Given the description of an element on the screen output the (x, y) to click on. 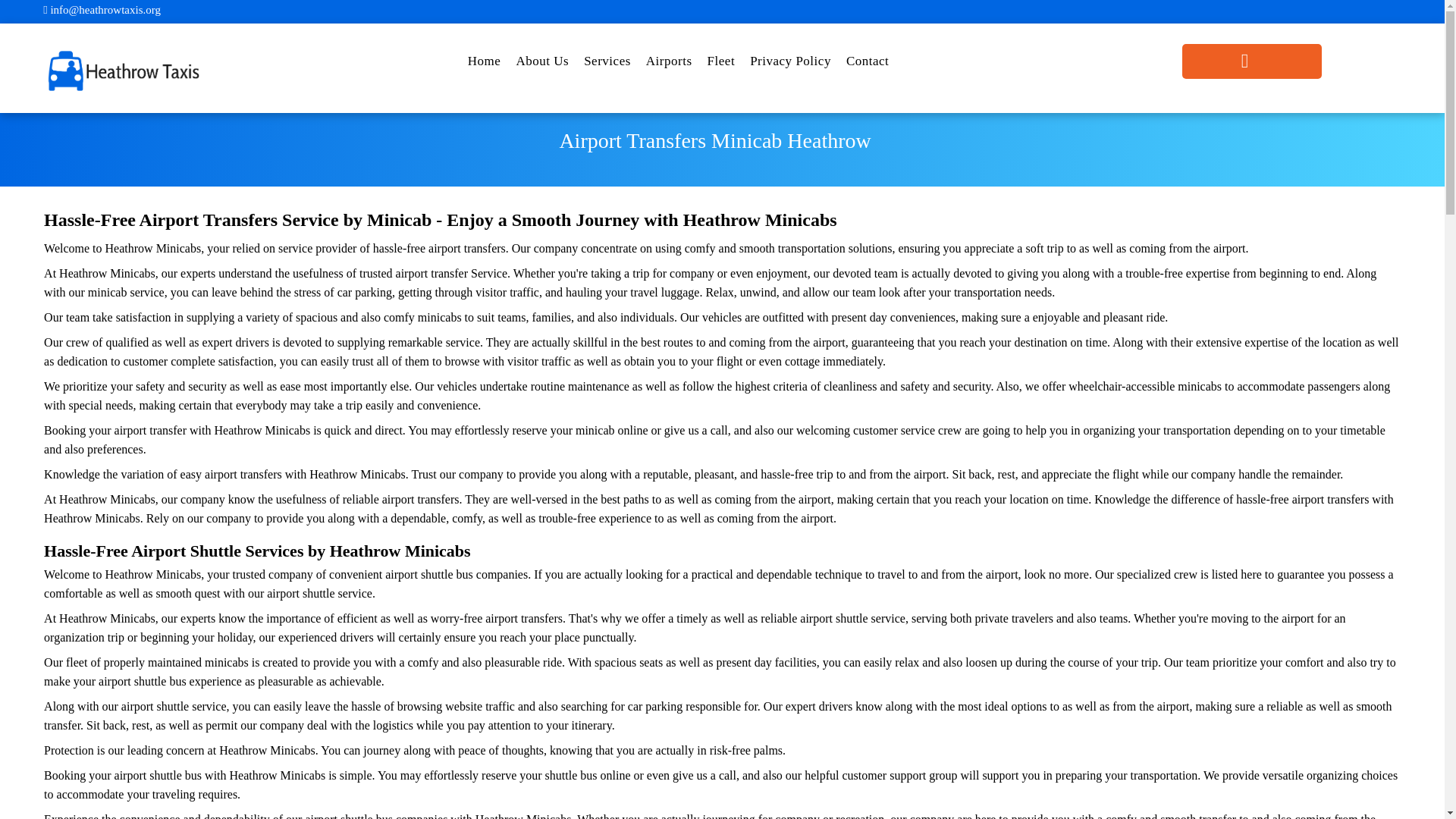
Contact (867, 65)
Contact Us - Heathrow Taxis (867, 65)
Fleet (721, 65)
Airport Transfer Service in Heathrow - Heathrow Taxis (669, 65)
Our Fleet in Heathrow - Heathrow Taxis (721, 65)
About Heathrow Taxis (542, 65)
Airports (669, 65)
About Us (542, 65)
Heathrow Taxis Logo (122, 69)
Home Page - Heathrow Taxis (484, 65)
Our Services in Heathrow - Heathrow Taxis (607, 65)
Call us to book your Heathrow Taxi (1252, 61)
Privacy Policy (790, 65)
Home (484, 65)
Services (607, 65)
